Given the description of an element on the screen output the (x, y) to click on. 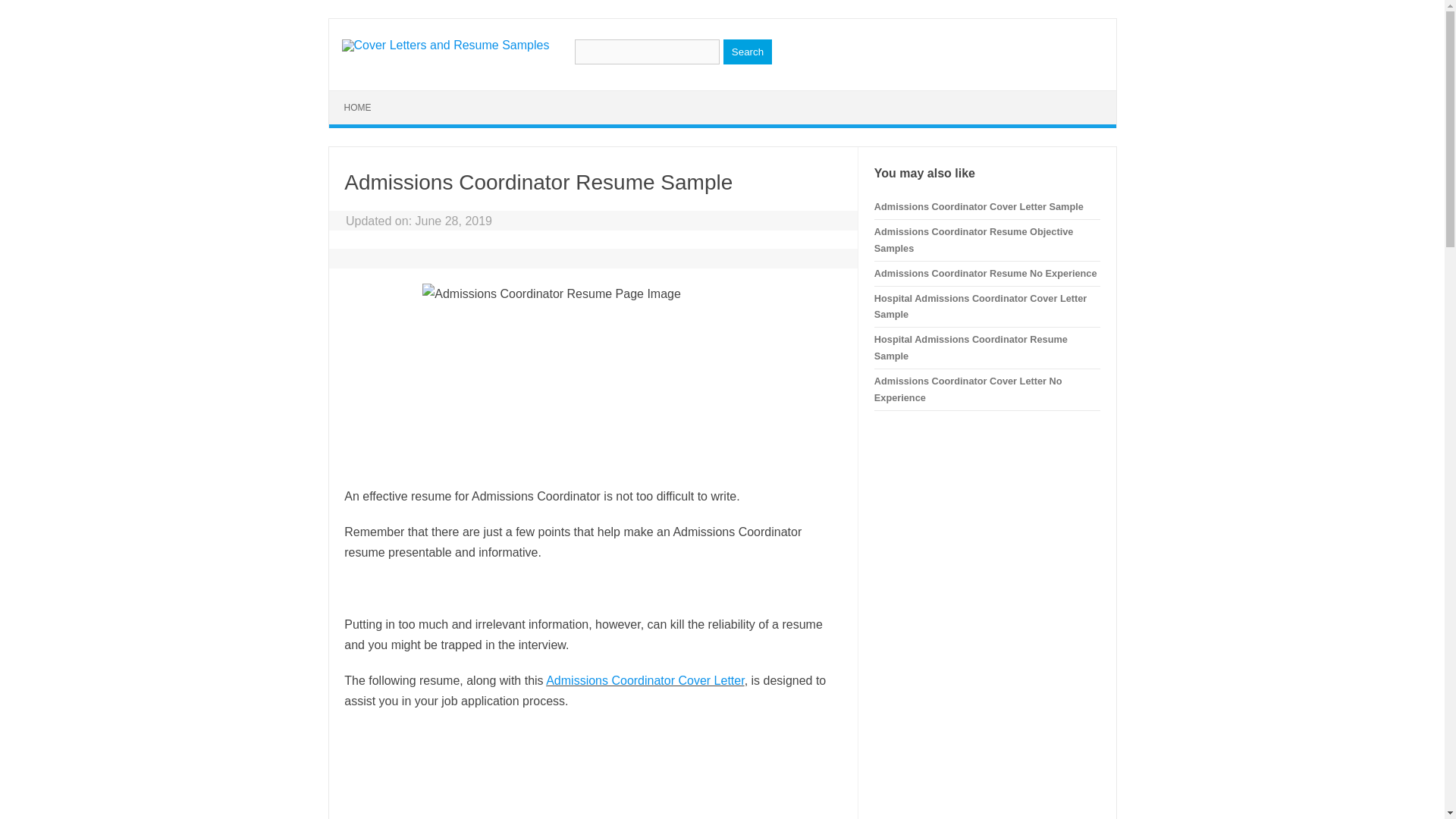
Admissions Coordinator Resume Objective Samples (974, 239)
Hospital Admissions Coordinator Cover Letter Sample (980, 306)
Admissions Coordinator Cover Letter Sample (645, 680)
Search (747, 51)
Admissions Coordinator Cover Letter Sample (979, 206)
Admissions Coordinator Cover Letter No Experience (968, 389)
Admissions Coordinator Resume No Experience (986, 273)
Cover Letters and Resume Samples (444, 44)
